Given the description of an element on the screen output the (x, y) to click on. 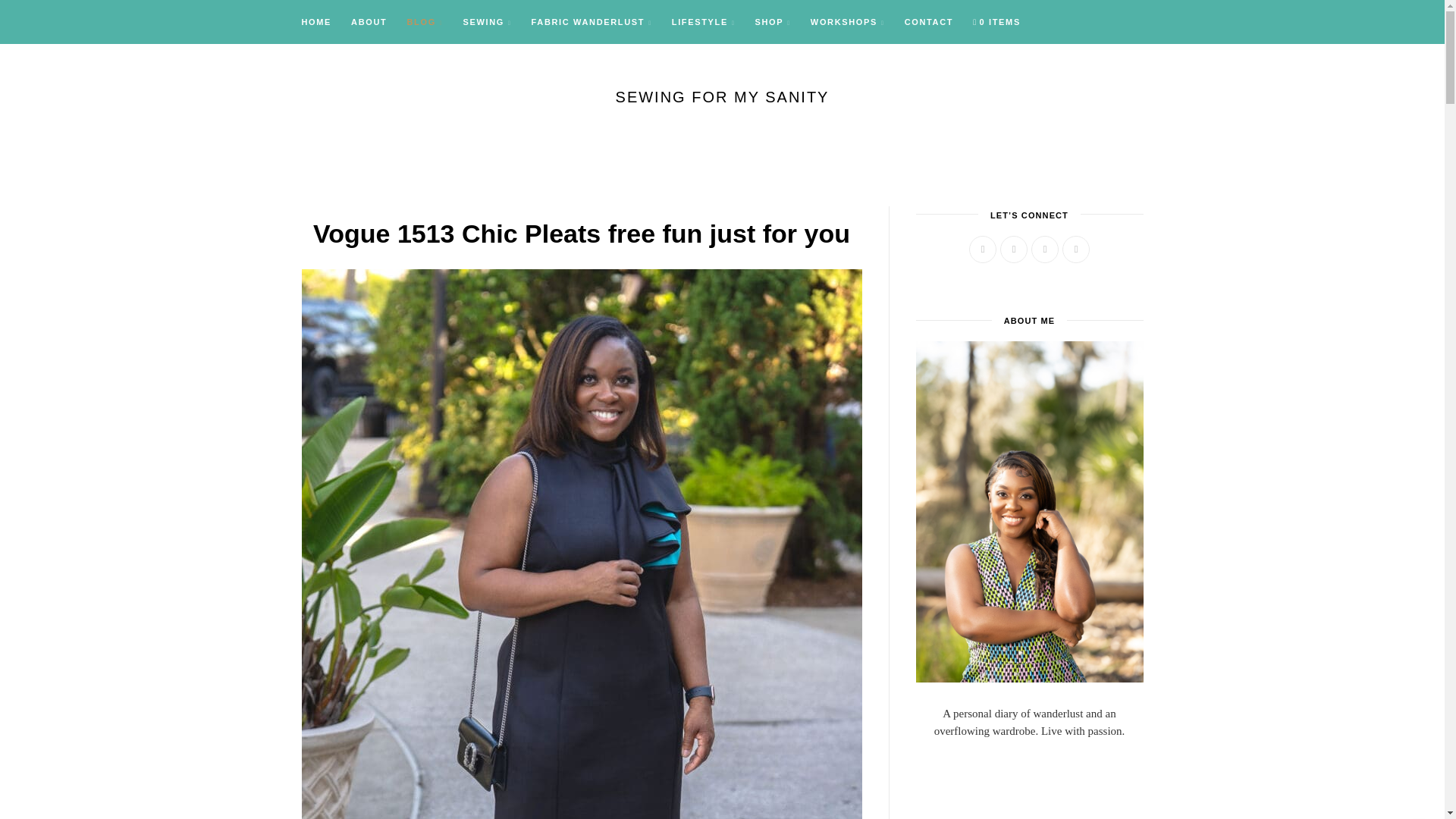
ABOUT (368, 22)
HOME (321, 22)
Instagram (1044, 248)
Twitter (1013, 248)
Facebook (982, 248)
FABRIC WANDERLUST (591, 22)
Youtube (1075, 248)
Start shopping (996, 22)
BLOG (424, 22)
SEWING (486, 22)
